Given the description of an element on the screen output the (x, y) to click on. 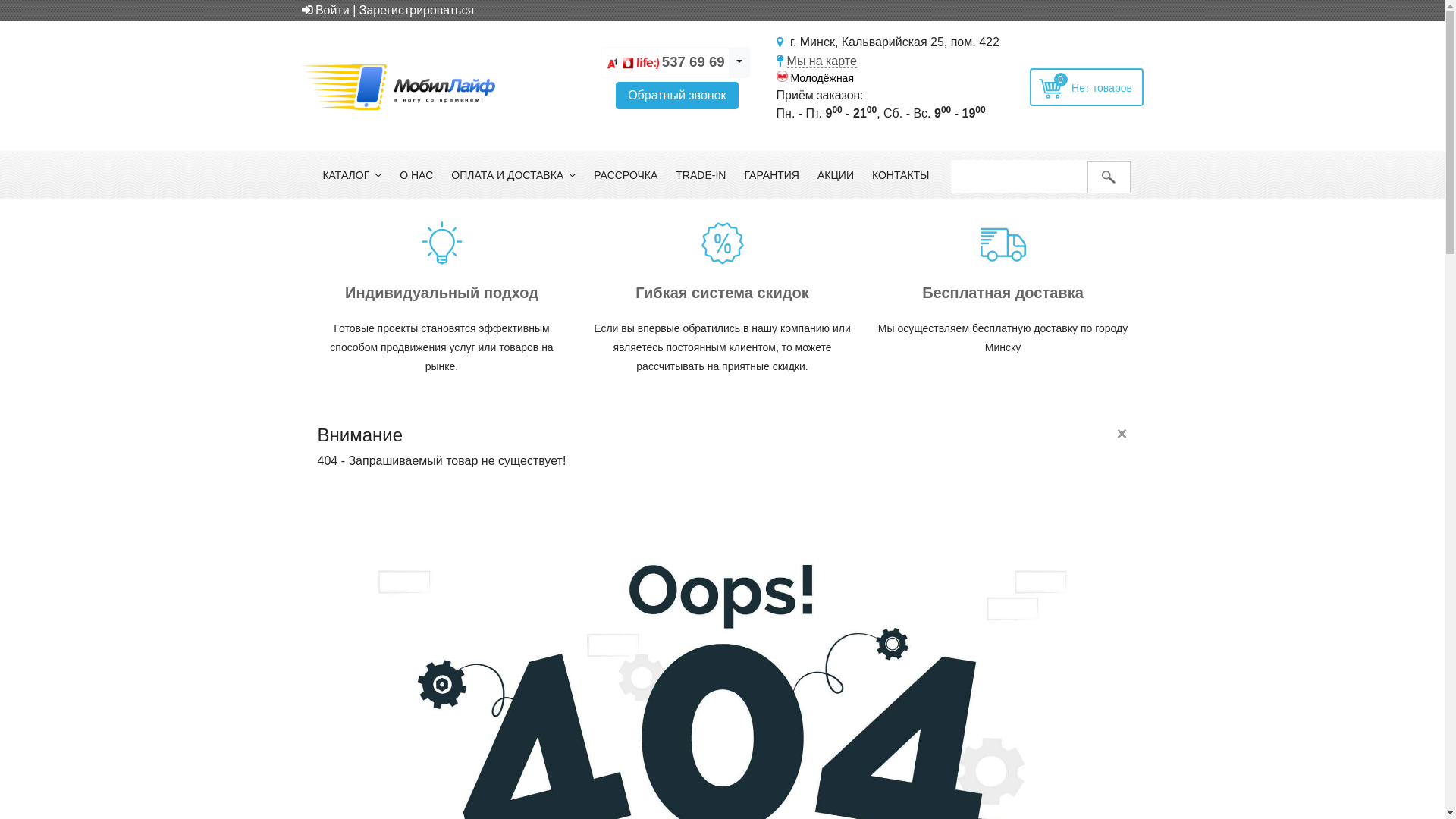
Toggle Dropdown Element type: text (738, 62)
TRADE-IN Element type: text (700, 174)
537 69 69 Element type: text (693, 62)
